Given the description of an element on the screen output the (x, y) to click on. 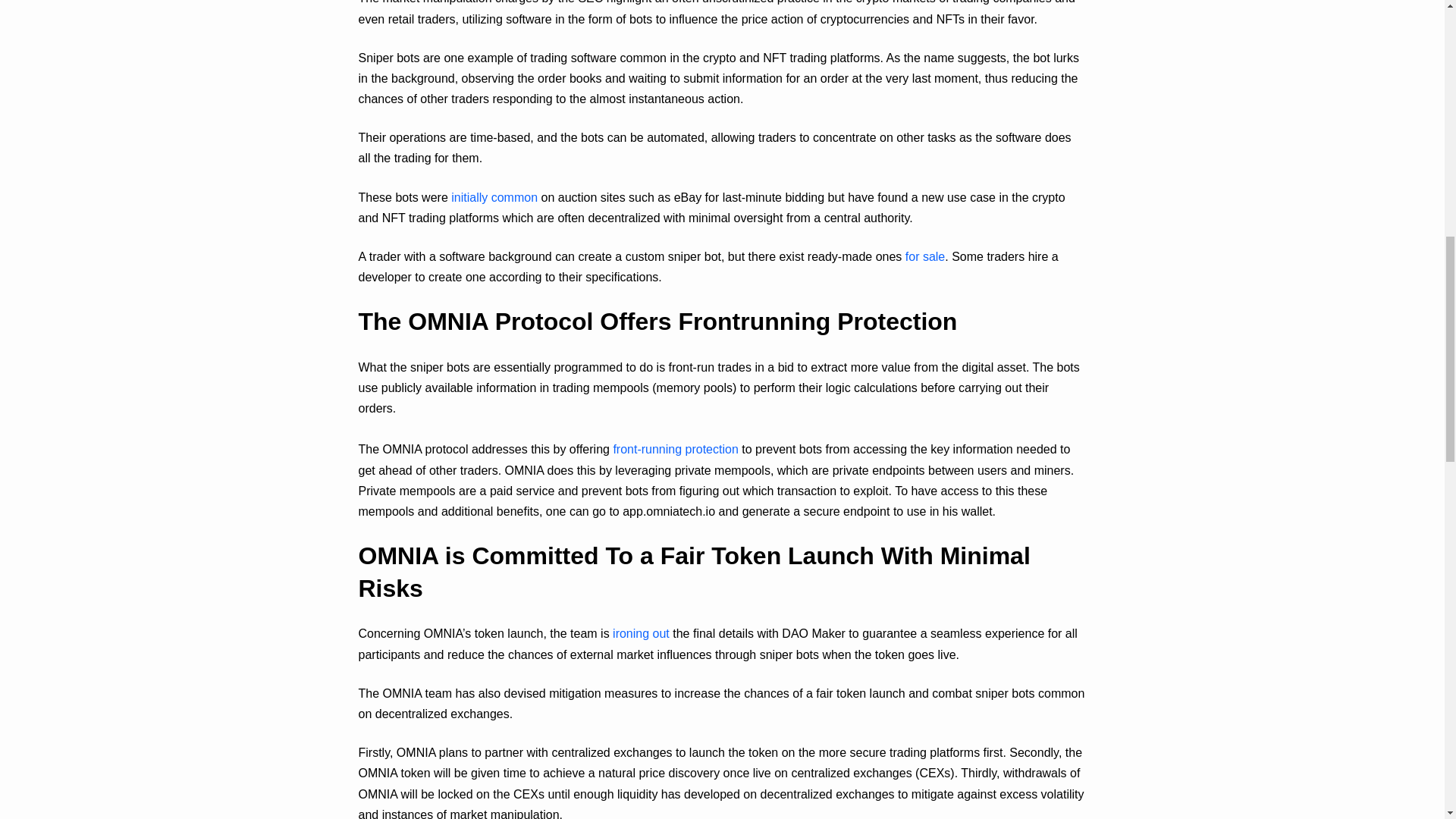
front-running protection (675, 449)
initially common (494, 196)
ironing out (640, 633)
for sale (924, 256)
